Given the description of an element on the screen output the (x, y) to click on. 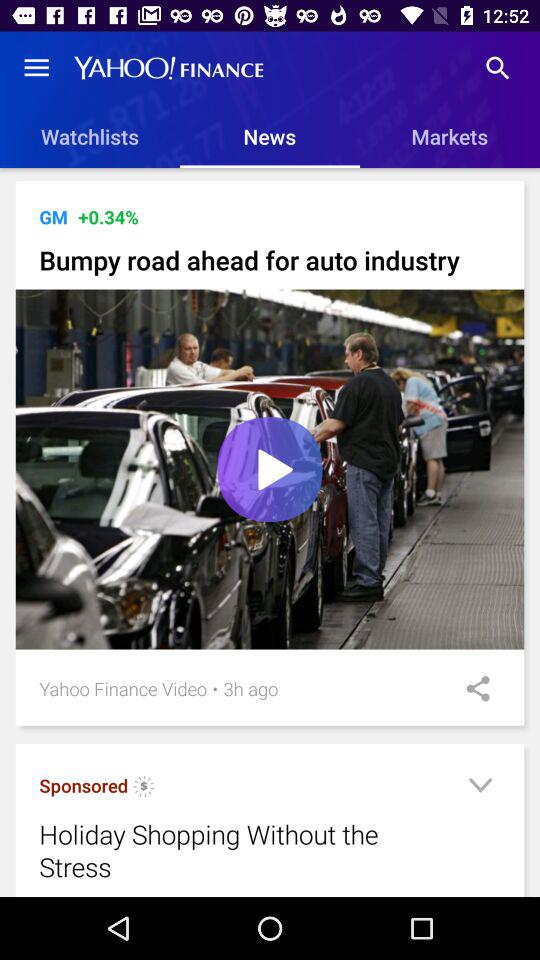
click 3h ago item (250, 688)
